Given the description of an element on the screen output the (x, y) to click on. 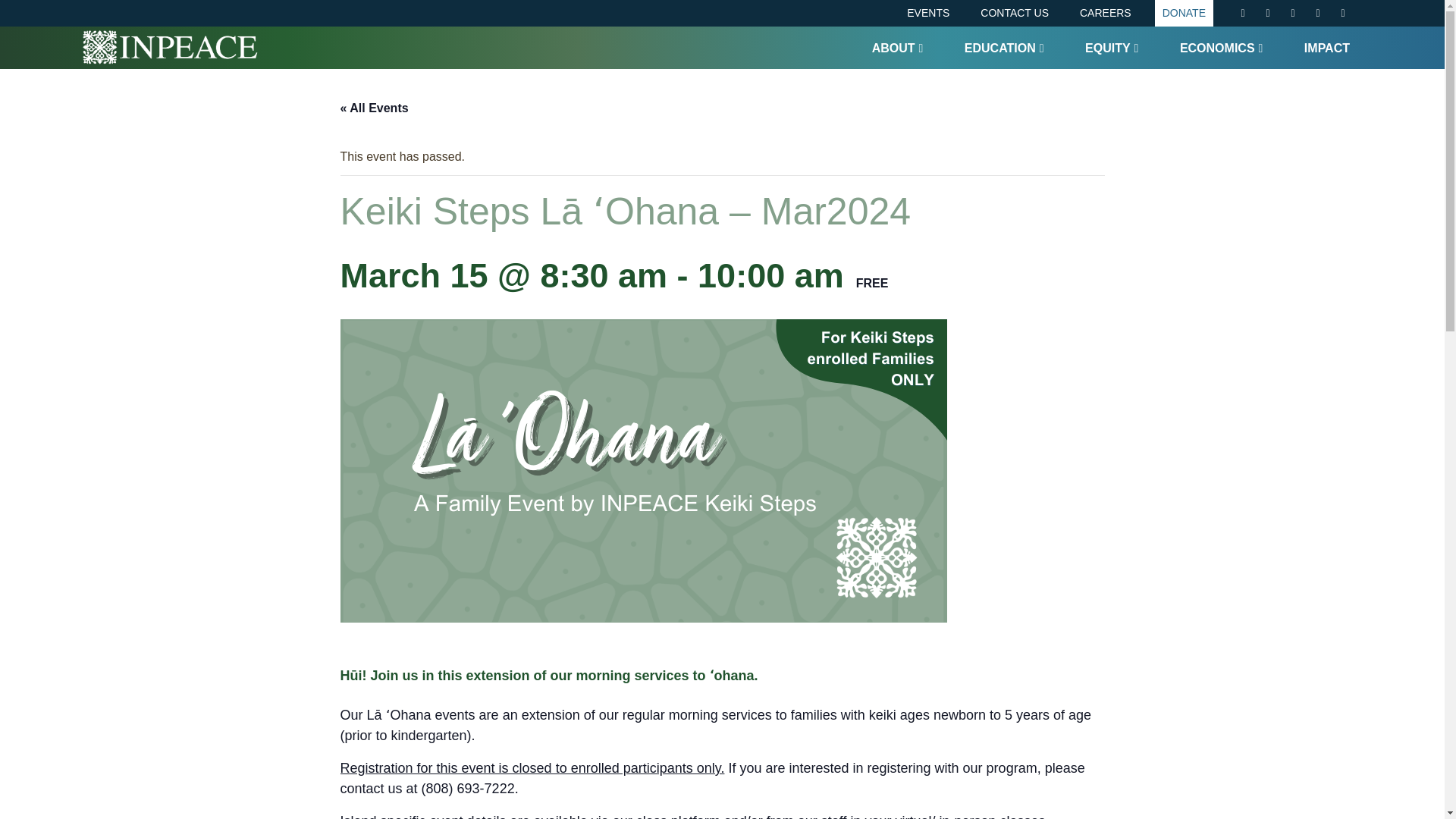
CAREERS (1104, 13)
ECONOMICS (1221, 47)
ABOUT (897, 47)
CONTACT US (1014, 13)
EQUITY (1111, 47)
DONATE (1183, 13)
EDUCATION (1003, 47)
EVENTS (927, 13)
